Given the description of an element on the screen output the (x, y) to click on. 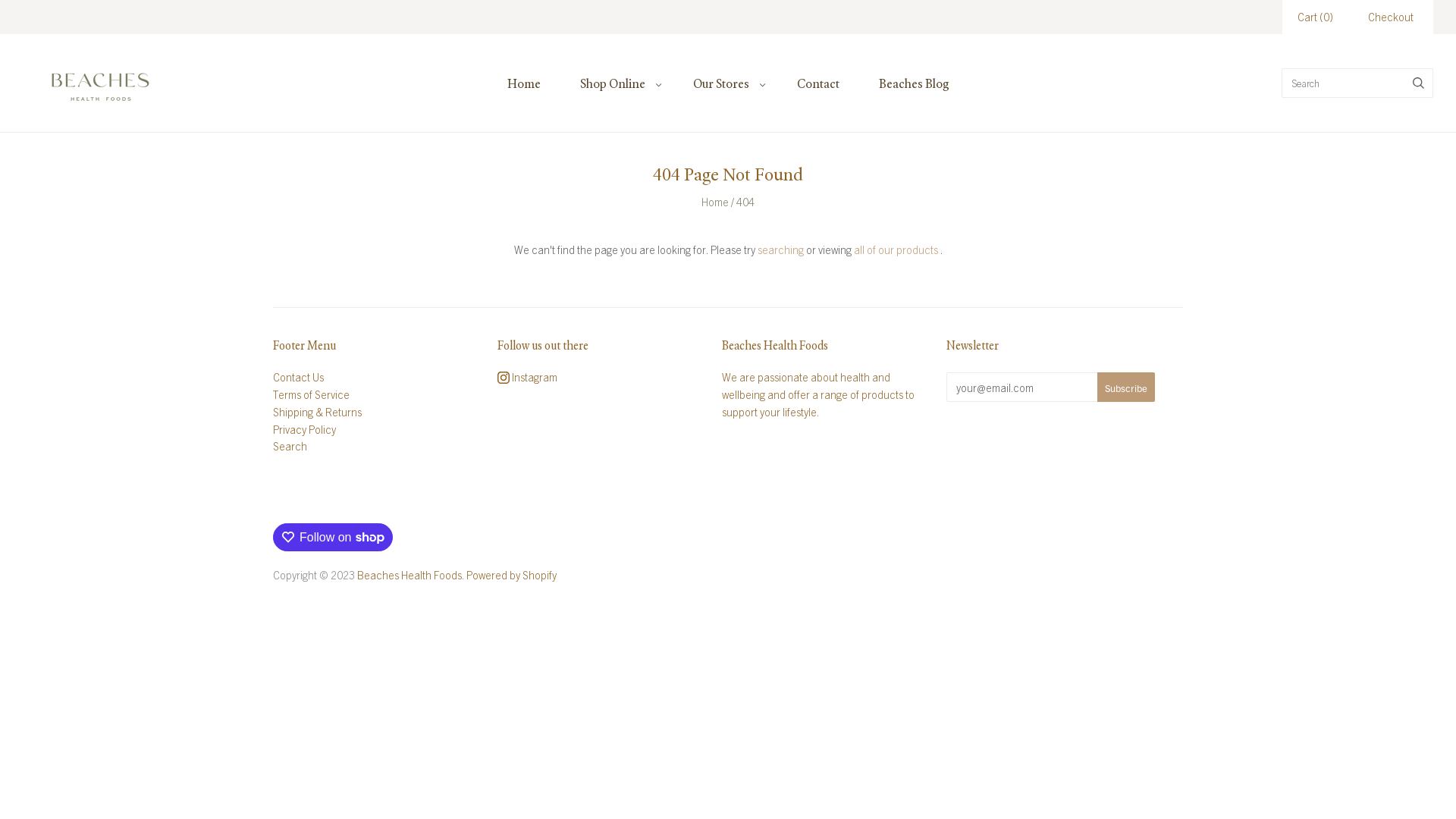
all of our products Element type: text (895, 249)
Contact Element type: text (817, 83)
Privacy Policy Element type: text (304, 428)
Subscribe Element type: text (1125, 386)
Shipping & Returns Element type: text (317, 411)
Powered by Shopify Element type: text (511, 574)
Cart (0) Element type: text (1315, 16)
Instagram Element type: text (527, 376)
Search Element type: text (290, 445)
Beaches Health Foods Element type: text (409, 574)
Terms of Service Element type: text (311, 394)
Beaches Blog Element type: text (913, 83)
searching Element type: text (779, 249)
Home Element type: text (522, 83)
Checkout Element type: text (1390, 16)
Contact Us Element type: text (298, 376)
Home Element type: text (714, 201)
